Given the description of an element on the screen output the (x, y) to click on. 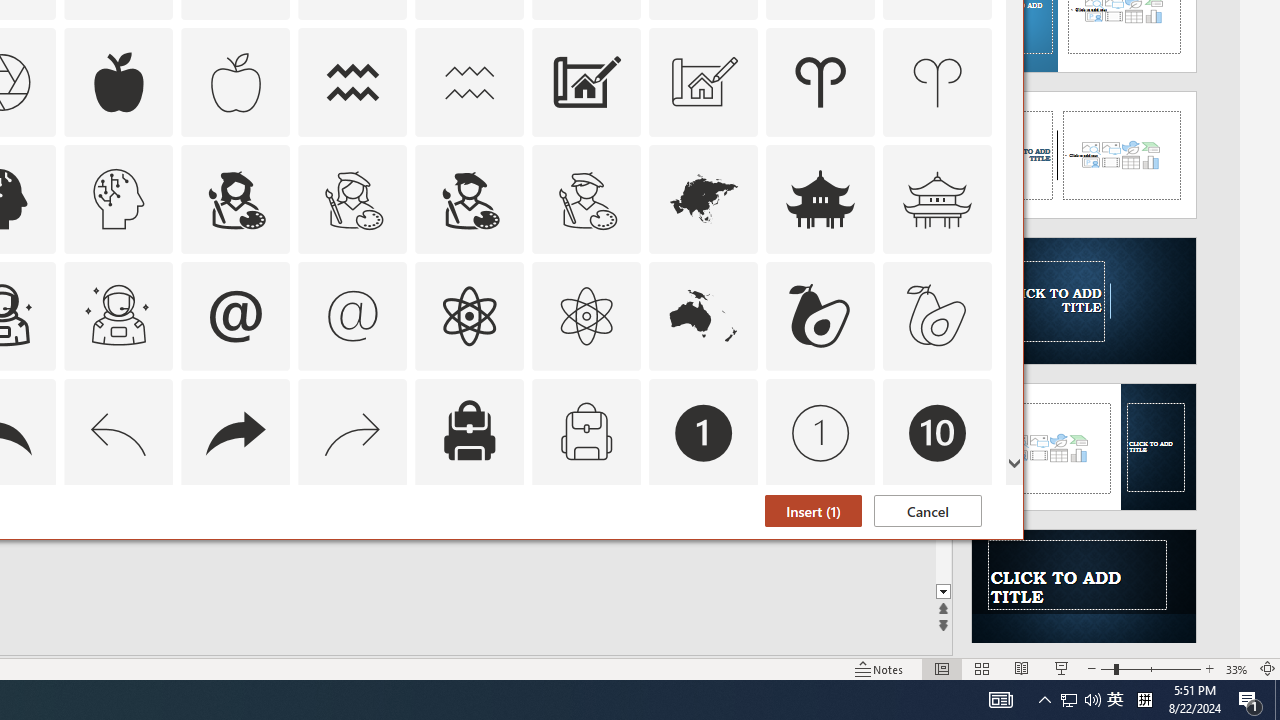
AutomationID: Icons_Badge7 (353, 550)
AutomationID: Icons_Atom (469, 316)
Zoom 33% (1236, 668)
Action Center, 1 new notification (1250, 699)
AutomationID: Icons_Badge1_M (820, 432)
AutomationID: Icons_Badge7_M (469, 550)
AutomationID: Icons_Aries (820, 82)
